Given the description of an element on the screen output the (x, y) to click on. 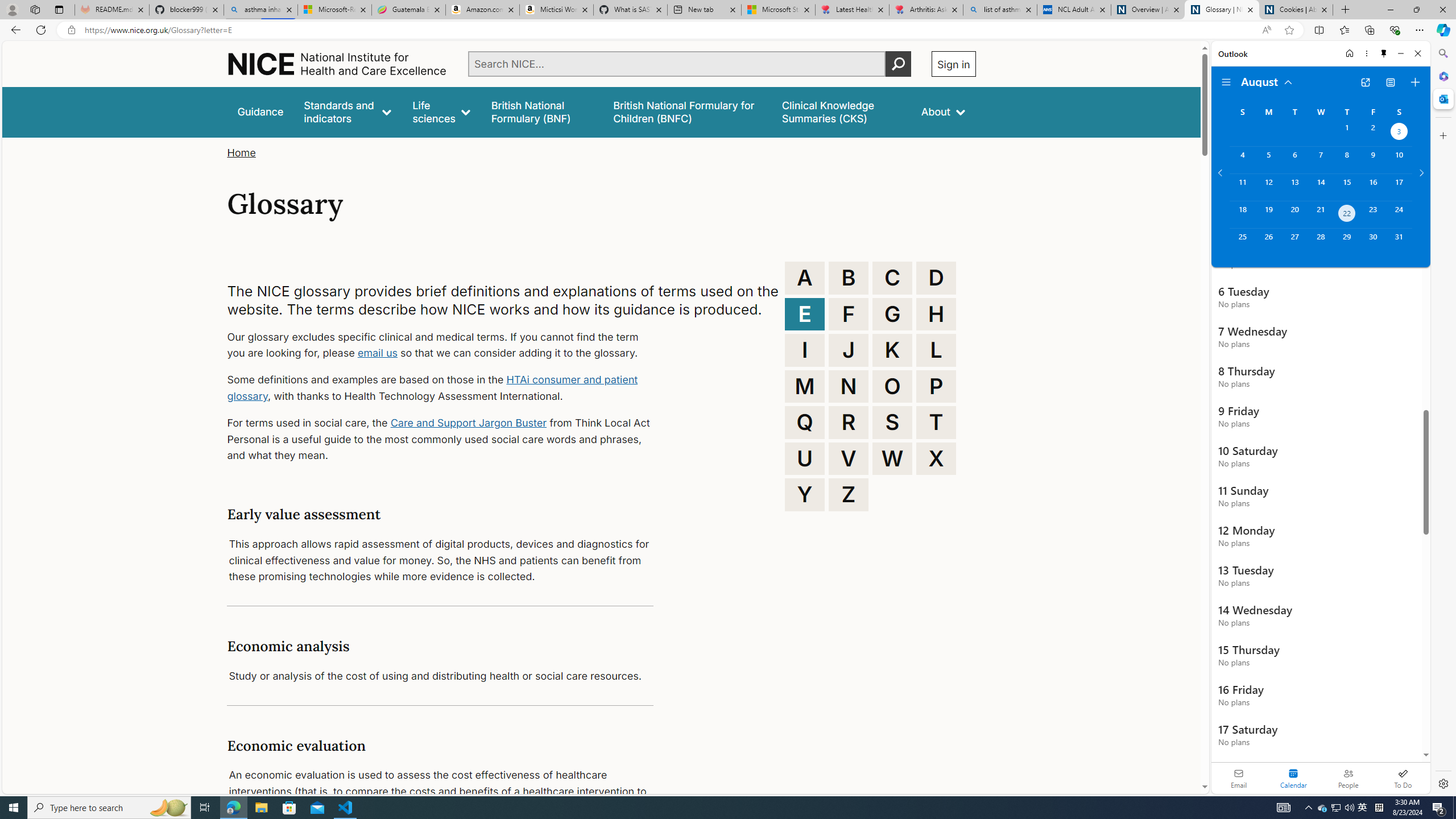
Minimize (1401, 53)
Friday, August 30, 2024.  (1372, 241)
Tab actions menu (58, 9)
Selected calendar module. Date today is 22 (1293, 777)
Arthritis: Ask Health Professionals (925, 9)
Z (848, 494)
A (804, 277)
D (935, 277)
Microsoft 365 (1442, 76)
C (892, 277)
Monday, August 26, 2024.  (1268, 241)
